Given the description of an element on the screen output the (x, y) to click on. 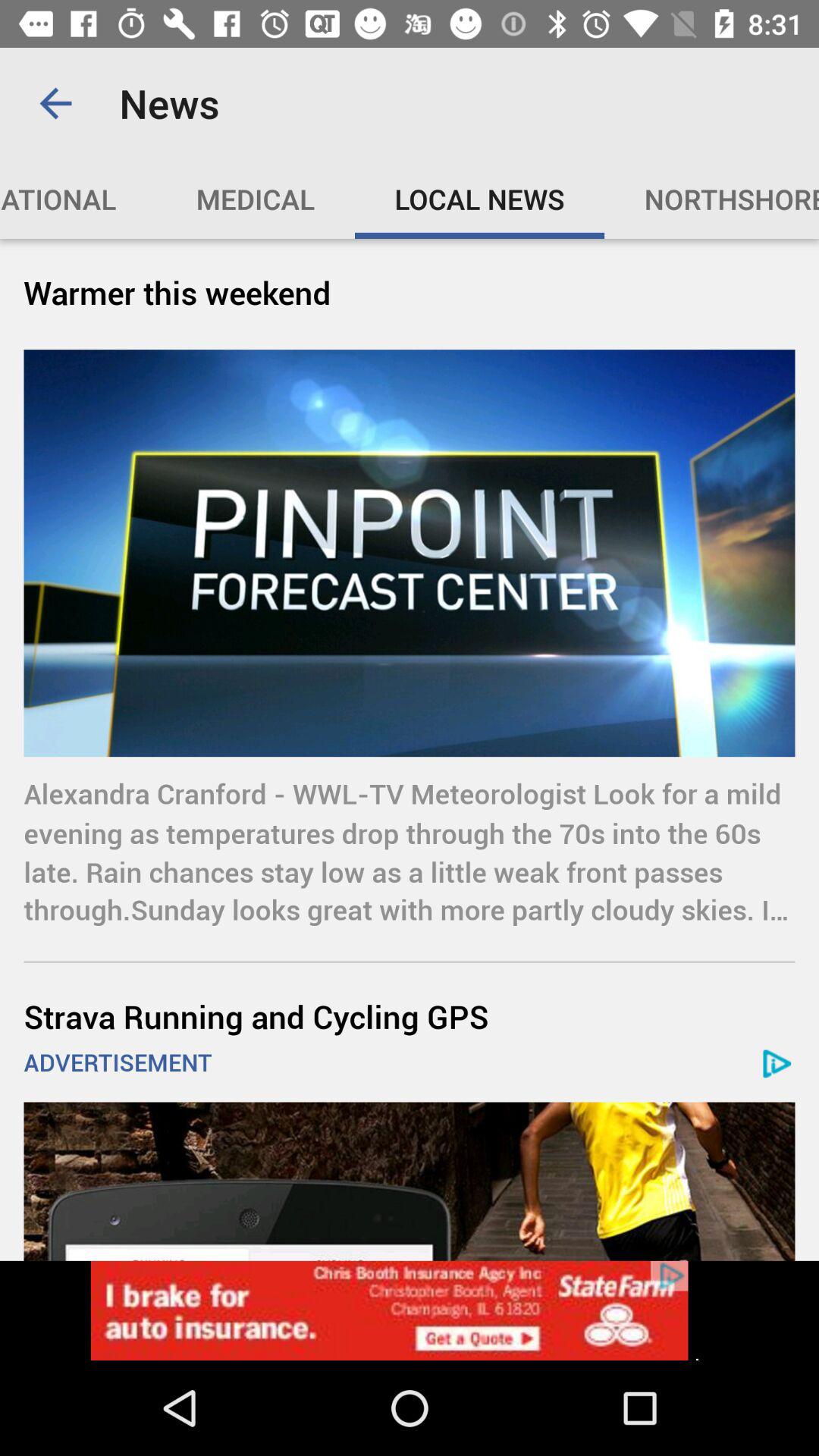
click icon above the advertisement icon (409, 1015)
